Given the description of an element on the screen output the (x, y) to click on. 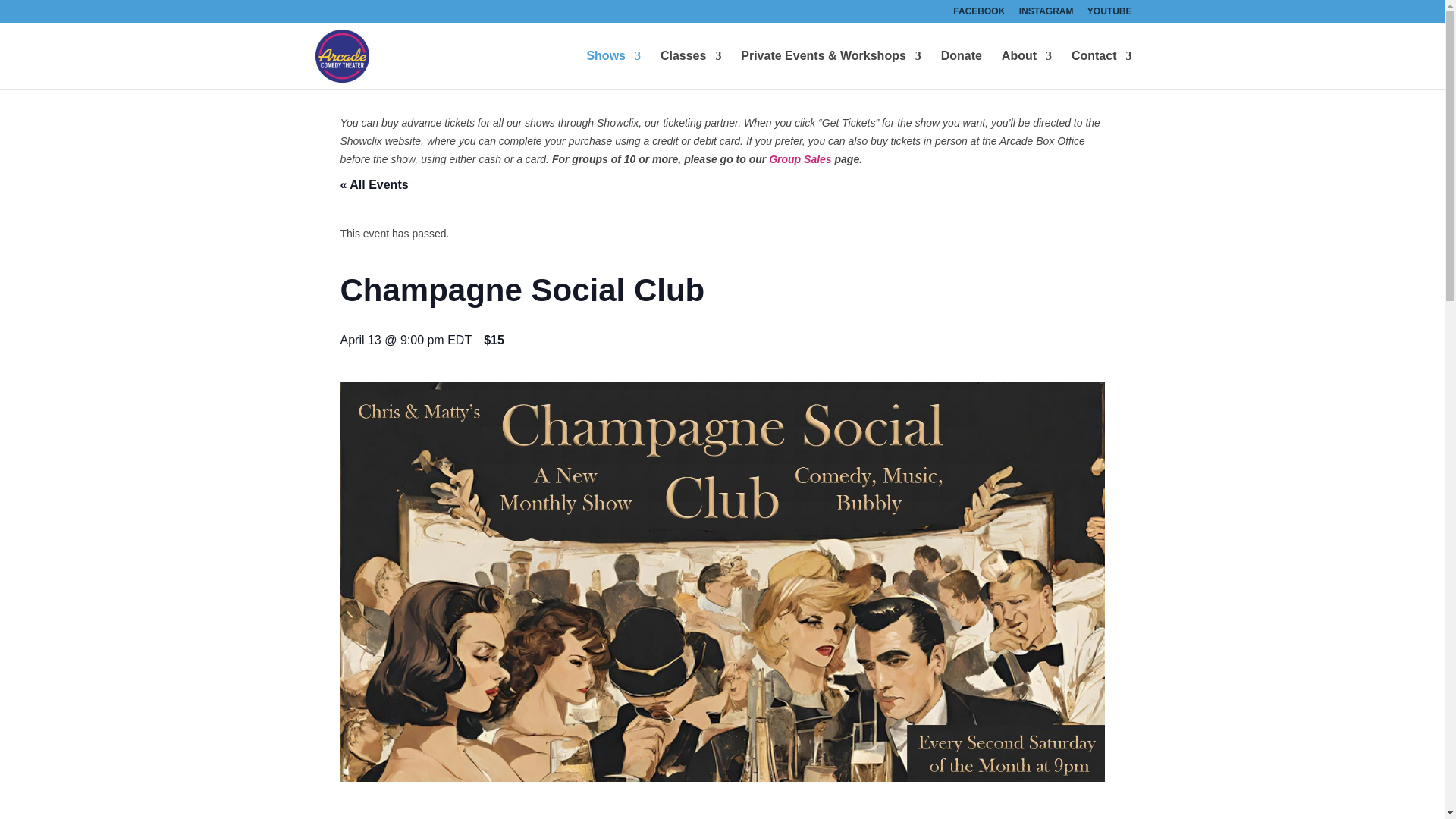
INSTAGRAM (1046, 14)
Contact (1101, 69)
About (1026, 69)
Donate (960, 69)
FACEBOOK (978, 14)
Classes (691, 69)
Group Sales (799, 159)
YOUTUBE (1109, 14)
Shows (613, 69)
